Given the description of an element on the screen output the (x, y) to click on. 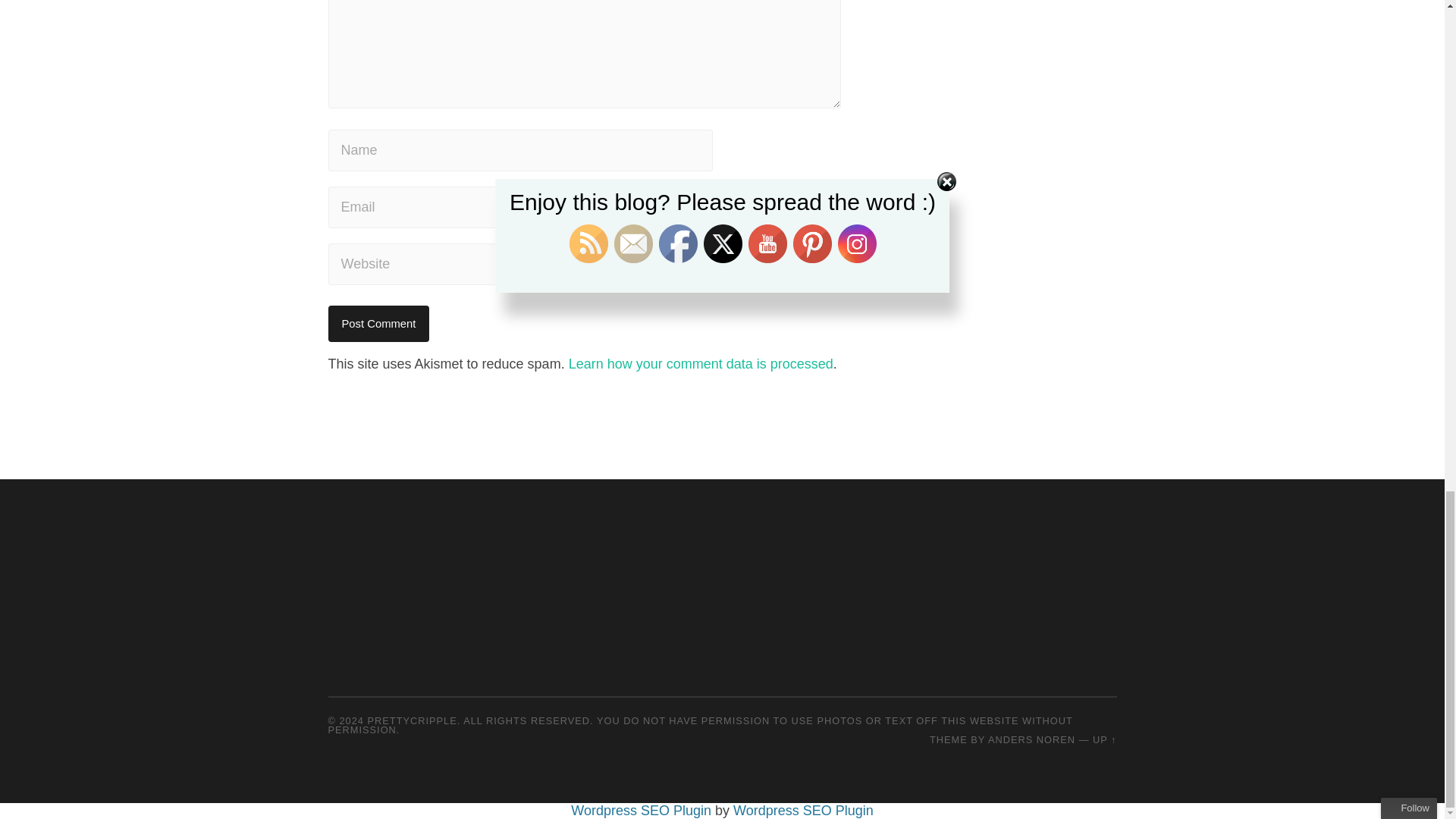
Post Comment (378, 323)
Wordpress SEO Plugin (642, 810)
Post Comment (378, 323)
ANDERS NOREN (1031, 739)
Wordpress SEO Plugin (803, 810)
To the top (1104, 739)
Learn how your comment data is processed (700, 363)
